Given the description of an element on the screen output the (x, y) to click on. 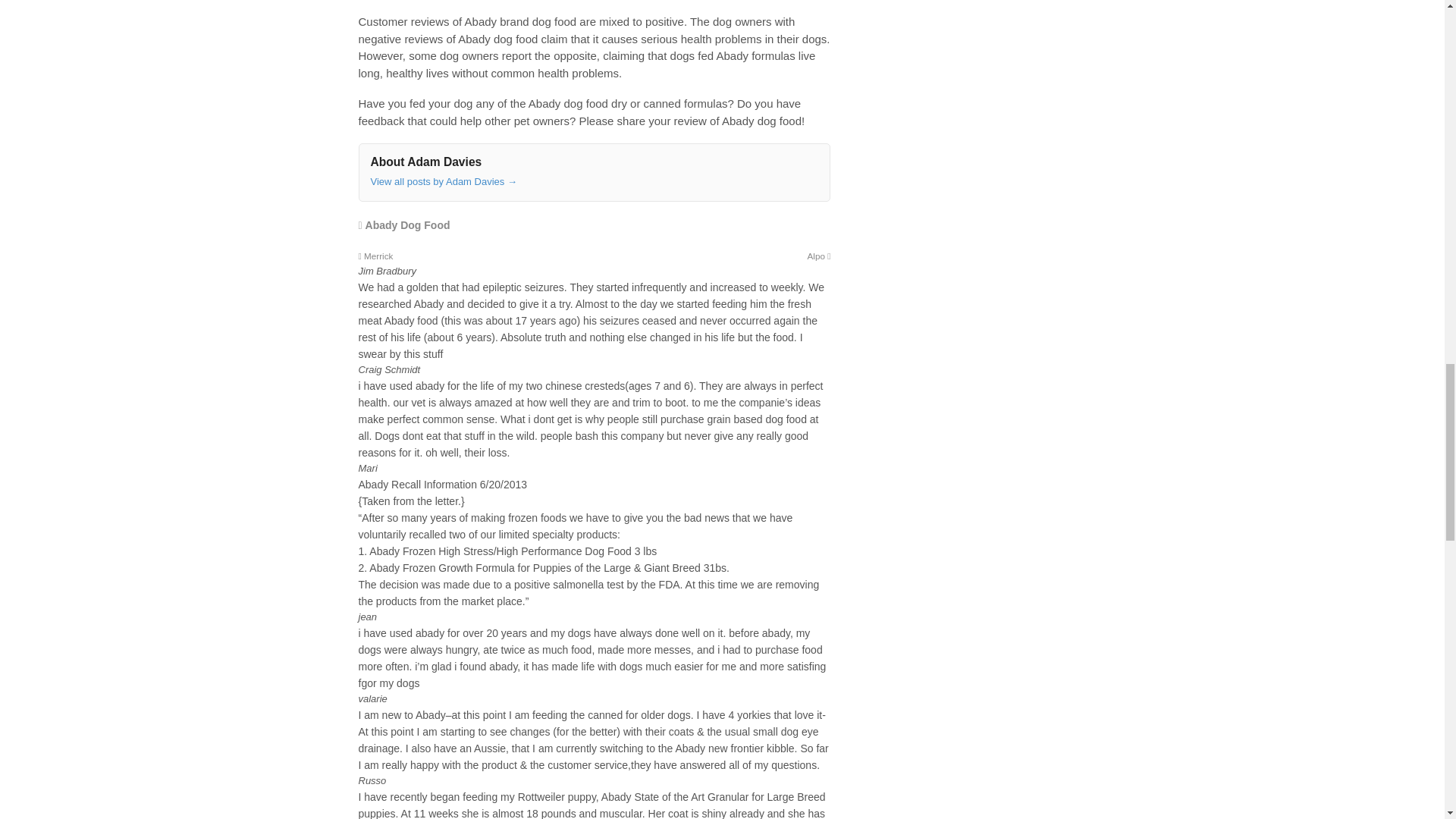
Merrick (375, 255)
Abady Dog Food (407, 224)
Alpo (819, 255)
